Given the description of an element on the screen output the (x, y) to click on. 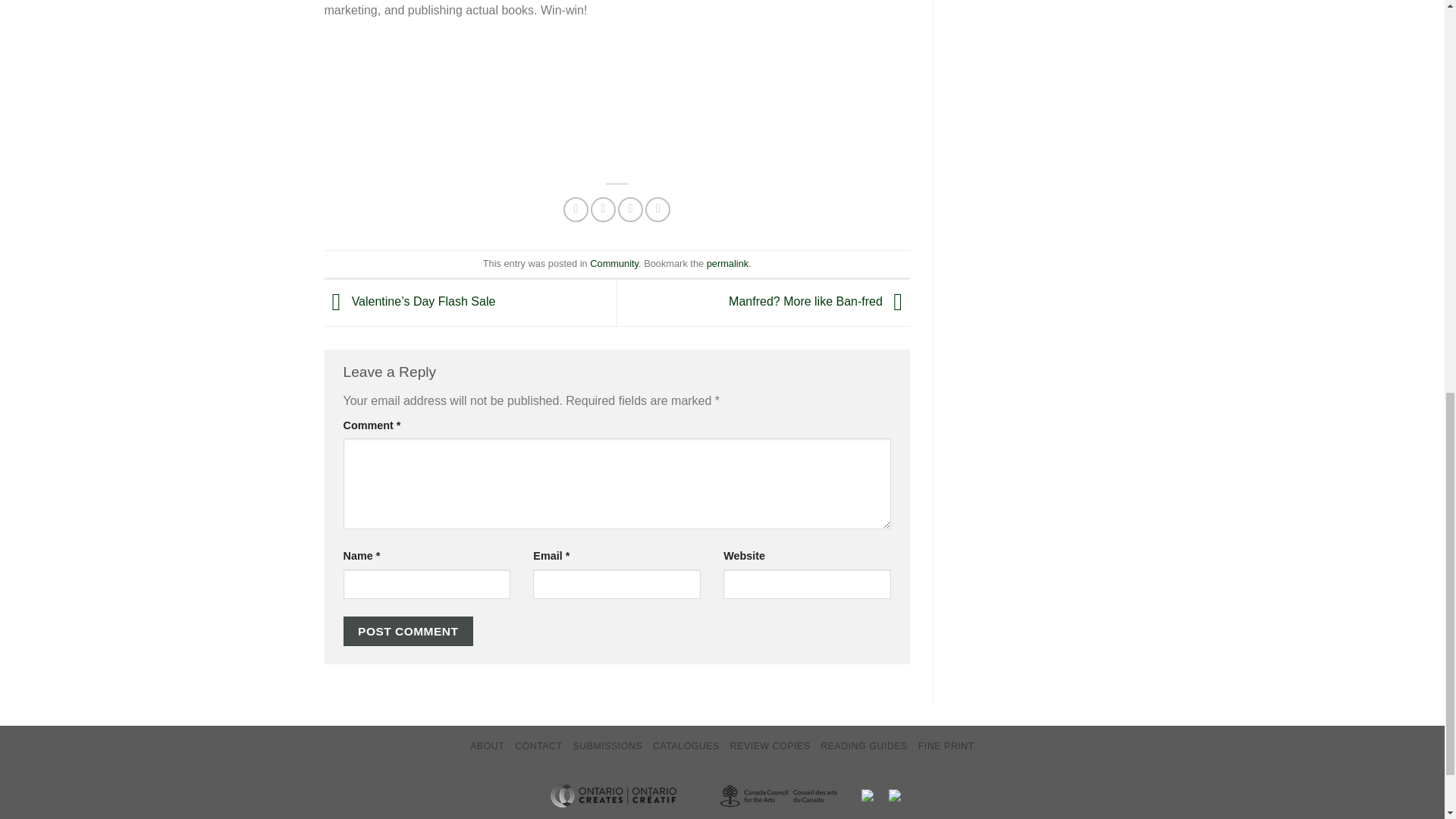
Email to a Friend (630, 209)
Share on Facebook (575, 209)
permalink (727, 263)
Post Comment (407, 631)
Share on Tumblr (657, 209)
Share on Twitter (603, 209)
Community (614, 263)
Permalink to The Little Bird Stories Project (727, 263)
Manfred? More like Ban-fred (819, 301)
Post Comment (407, 631)
